Given the description of an element on the screen output the (x, y) to click on. 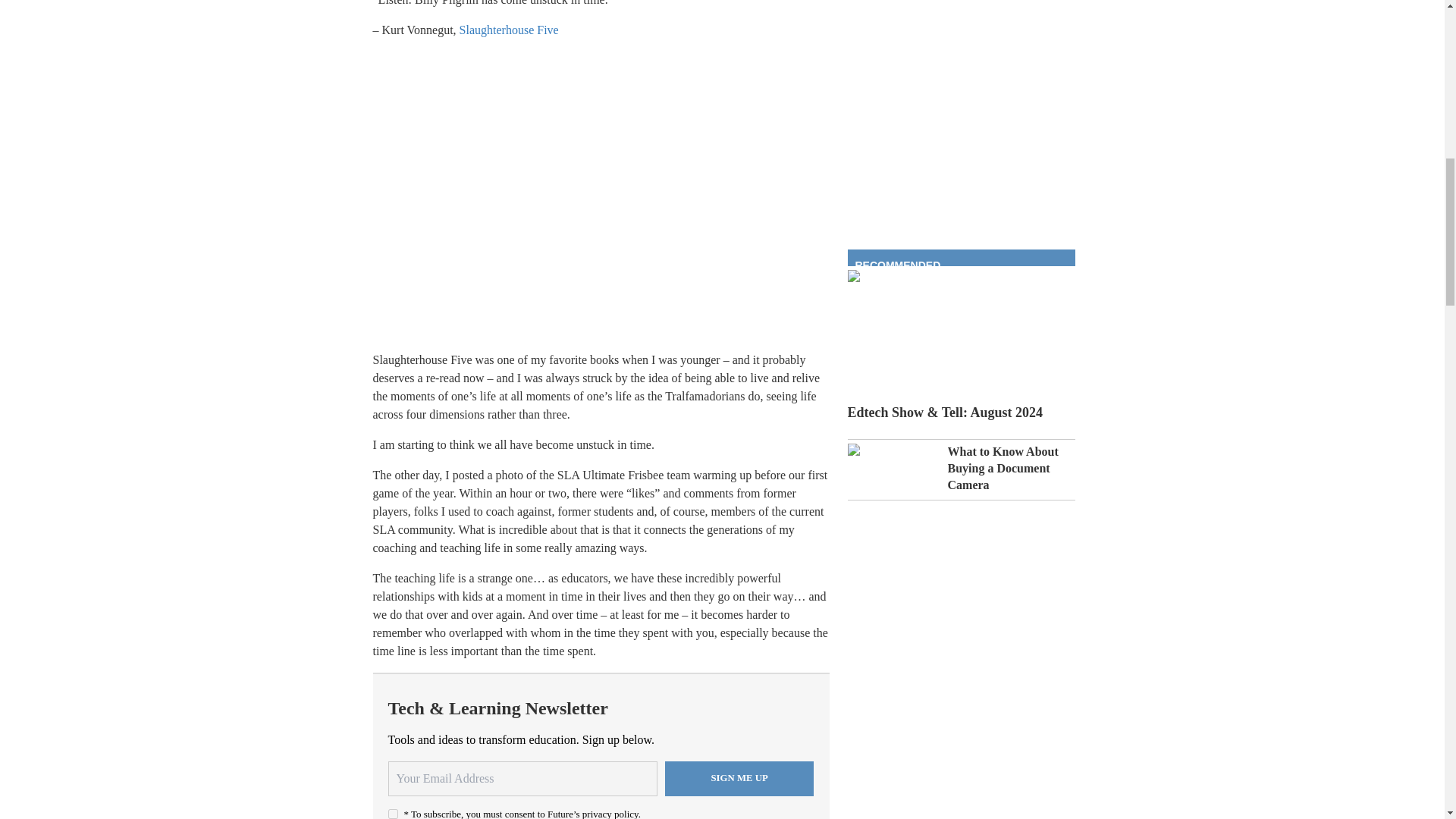
Sign me up (739, 778)
Sign me up (739, 778)
Slaughterhouse Five (509, 29)
on (392, 814)
